Given the description of an element on the screen output the (x, y) to click on. 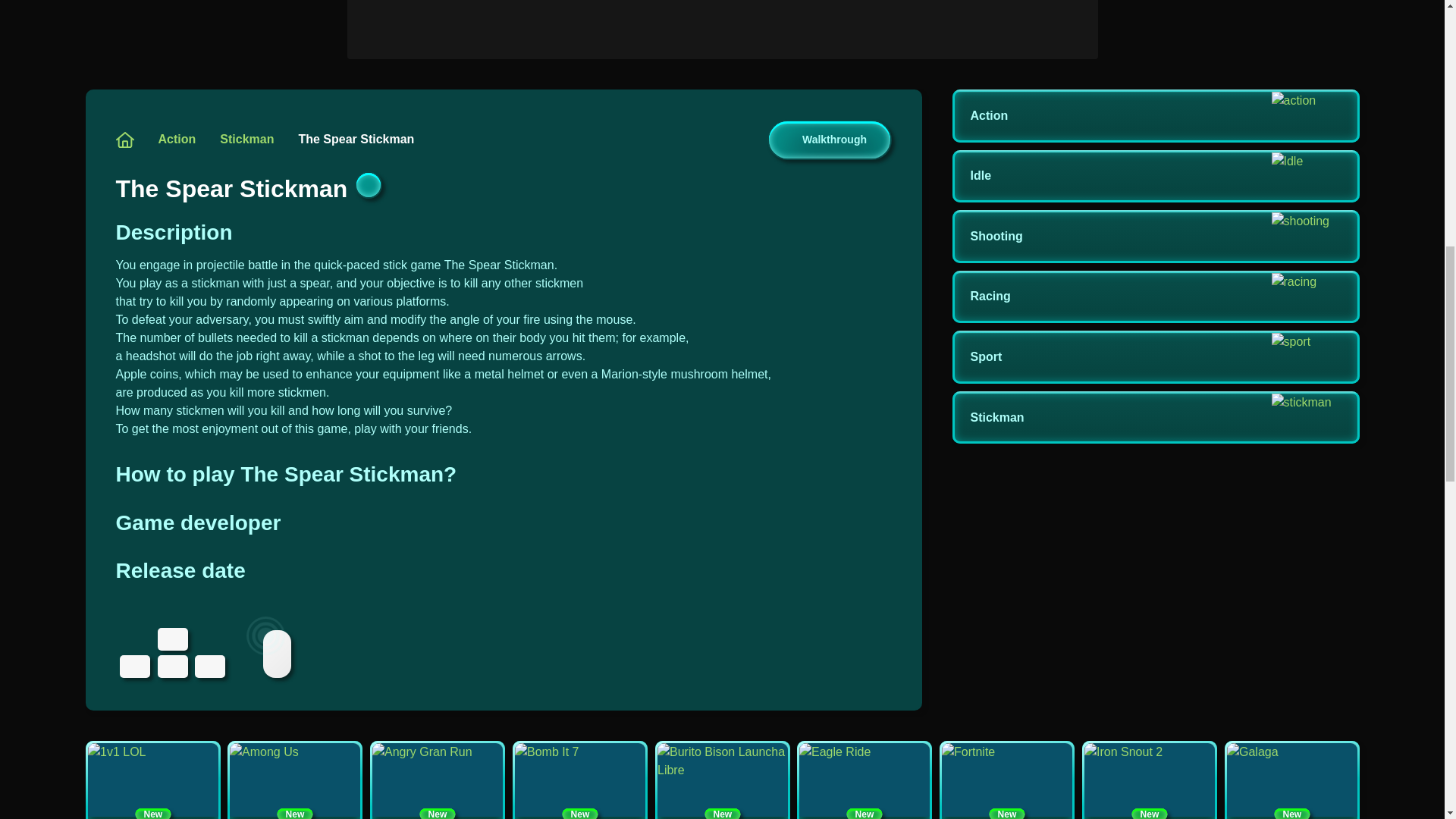
Walkthrough (829, 139)
Stickman (1155, 417)
Idle (1155, 176)
Shooting (1155, 235)
Sport (294, 780)
Ubg9.com (1155, 357)
action (176, 139)
